Given the description of an element on the screen output the (x, y) to click on. 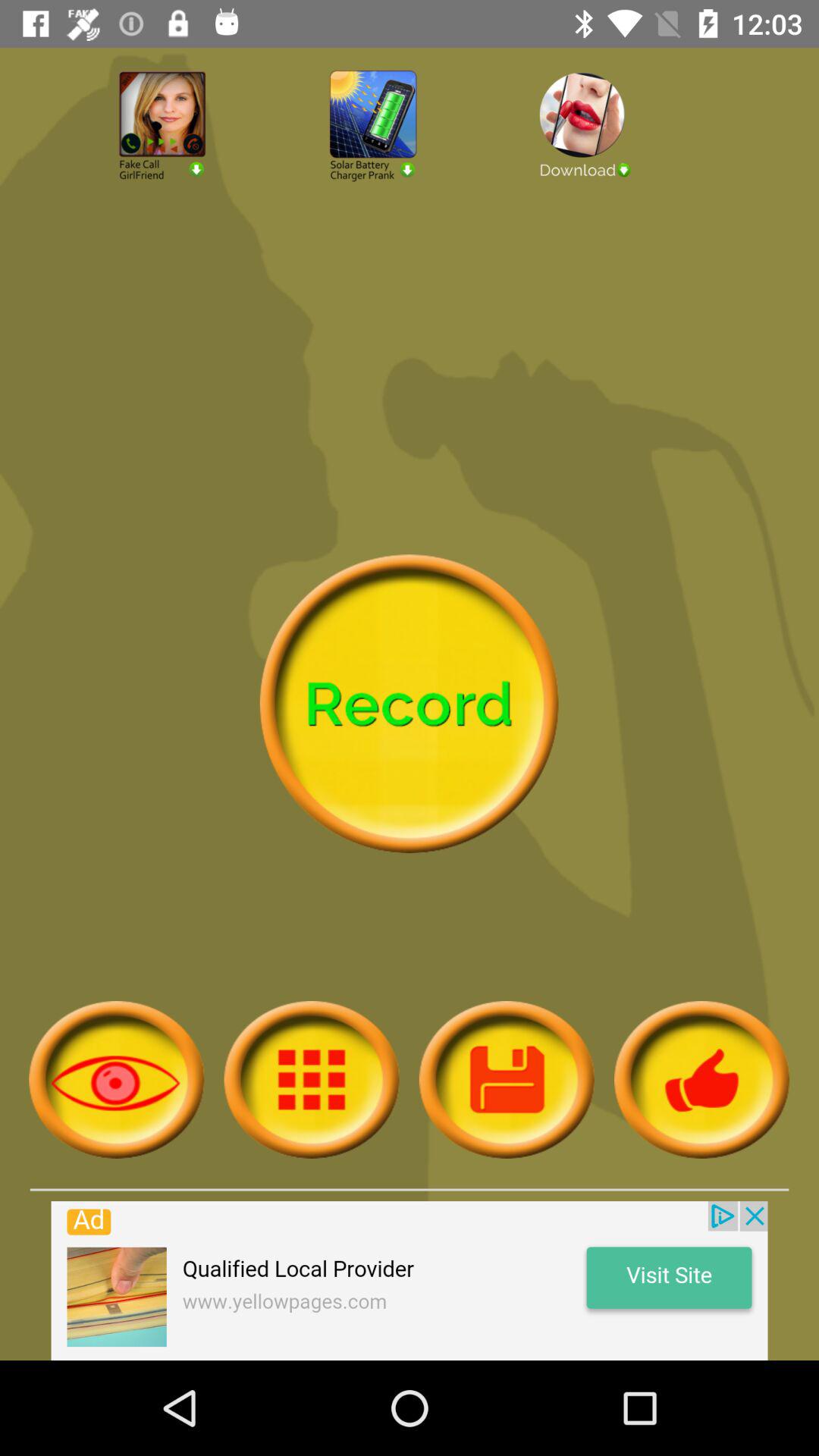
phone number shortcut (199, 166)
